Given the description of an element on the screen output the (x, y) to click on. 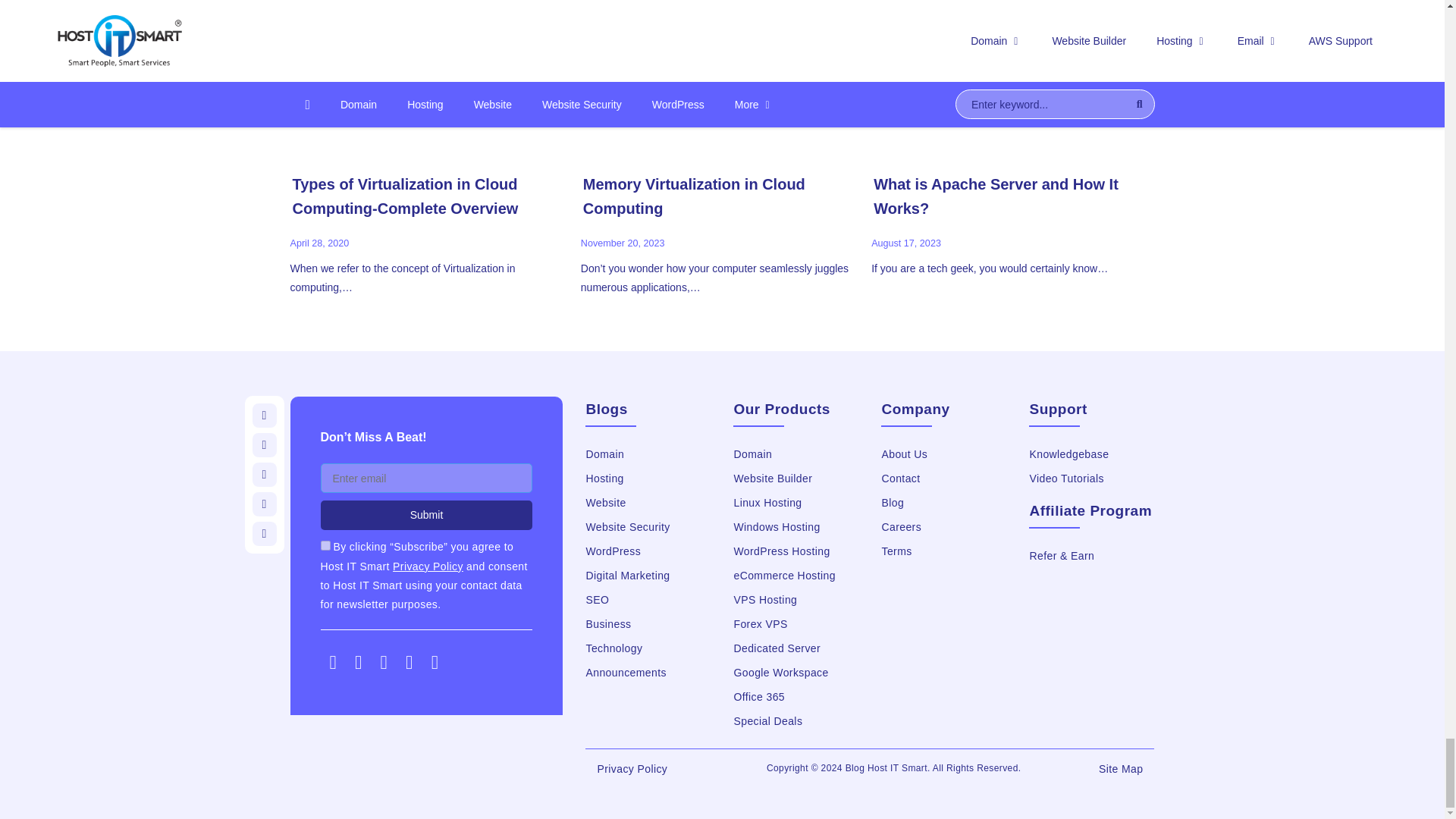
138098 (325, 545)
